Given the description of an element on the screen output the (x, y) to click on. 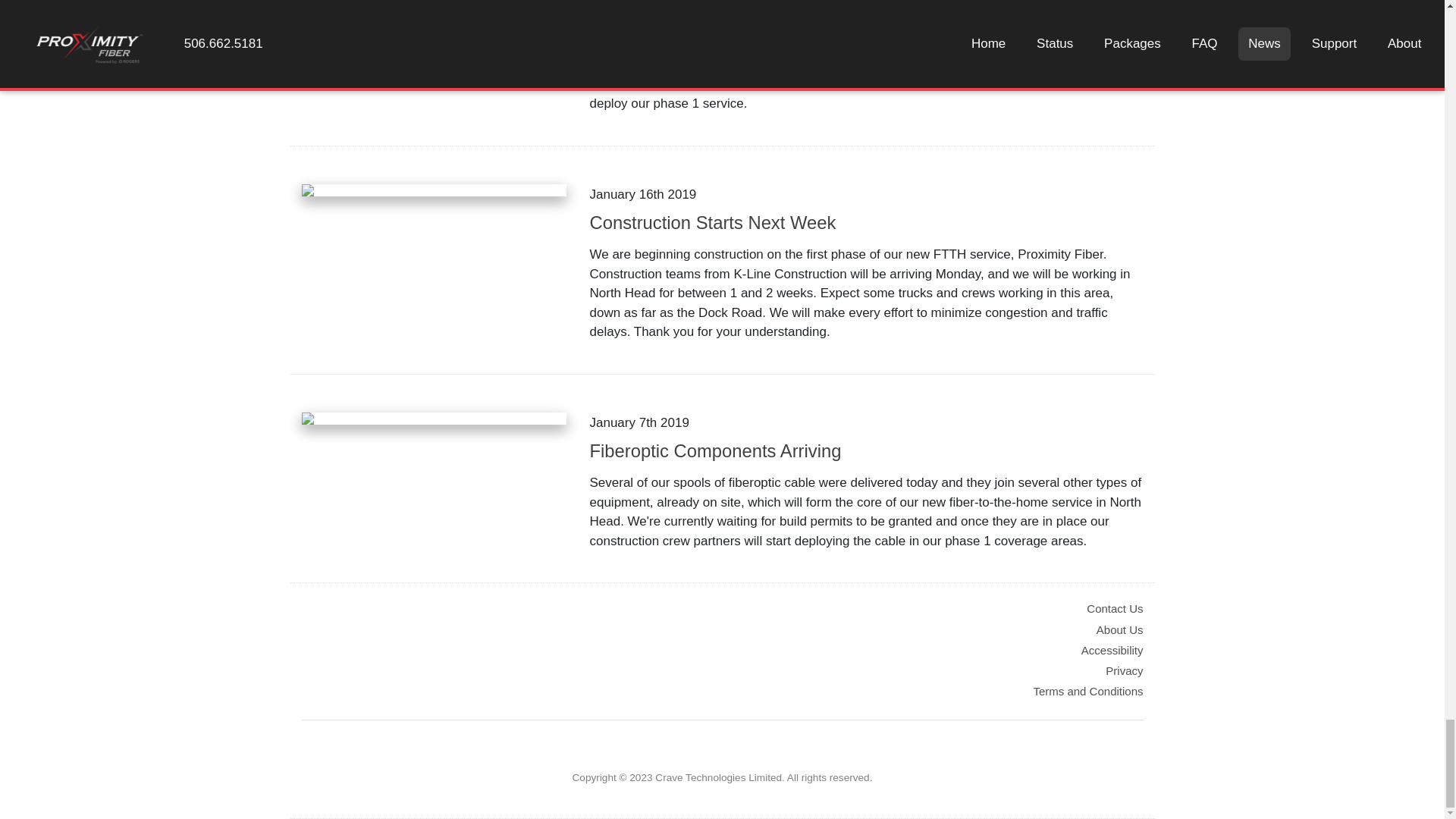
Accessibility (1111, 649)
Privacy (1123, 670)
Terms and Conditions (1087, 690)
About Us (1119, 629)
Contact Us (1114, 608)
